Given the description of an element on the screen output the (x, y) to click on. 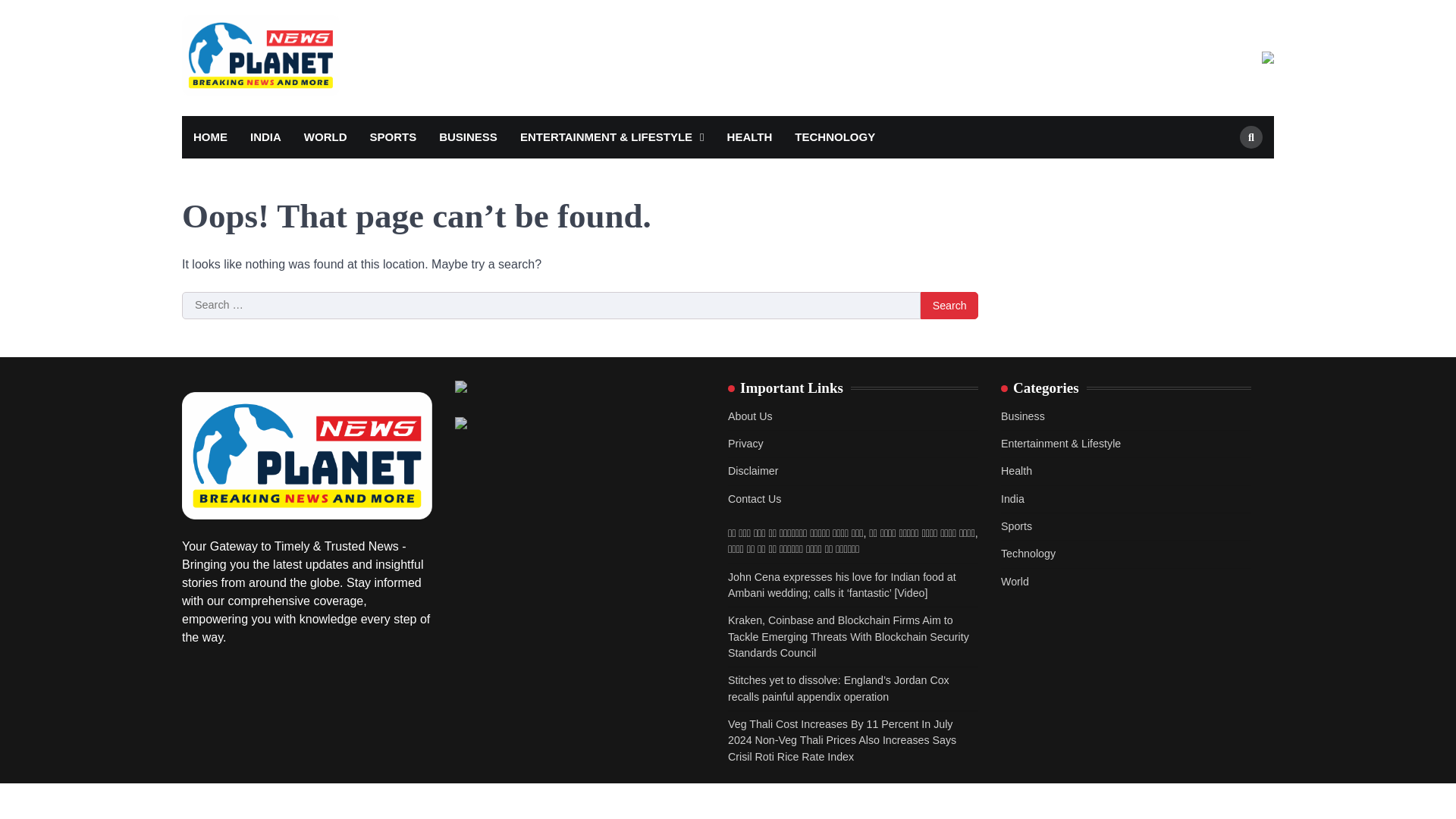
SPORTS (393, 137)
Search (1223, 172)
HEALTH (750, 137)
Privacy (745, 443)
Sports (1016, 526)
Search (949, 305)
Disclaimer (752, 470)
WORLD (325, 137)
Search (949, 305)
